Given the description of an element on the screen output the (x, y) to click on. 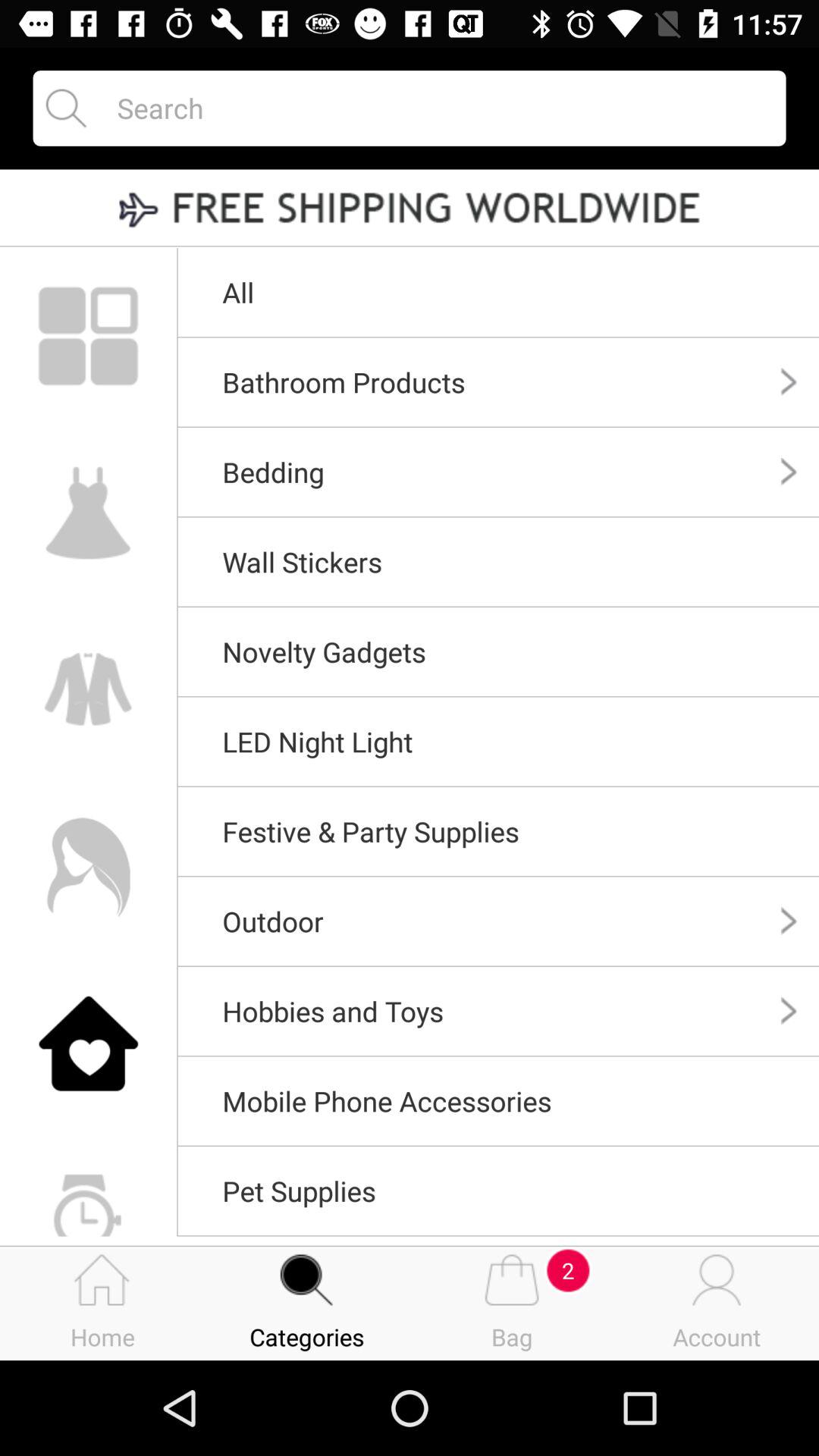
to go search (437, 108)
